Given the description of an element on the screen output the (x, y) to click on. 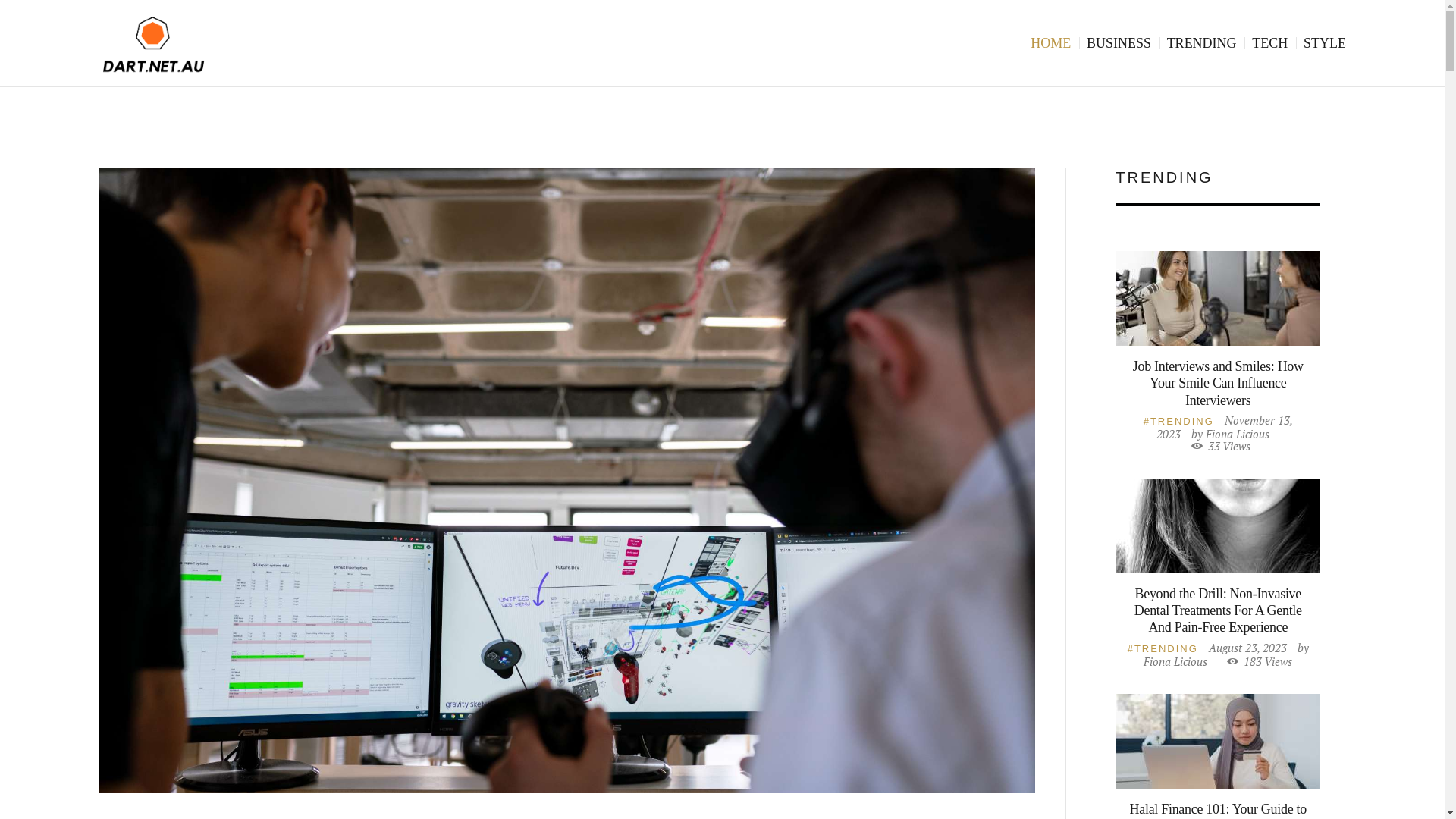
HOME Element type: text (1050, 43)
Fiona Licious Element type: text (1237, 433)
TRENDING Element type: text (1201, 43)
TRENDING Element type: text (1178, 420)
STYLE Element type: text (1324, 43)
BUSINESS Element type: text (1118, 43)
TECH Element type: text (1269, 43)
33Views Element type: text (1221, 445)
183Views Element type: text (1259, 660)
TRENDING Element type: text (1162, 648)
November 13, 2023 Element type: text (1224, 426)
August 23, 2023 Element type: text (1247, 647)
Fiona Licious Element type: text (1175, 660)
